Given the description of an element on the screen output the (x, y) to click on. 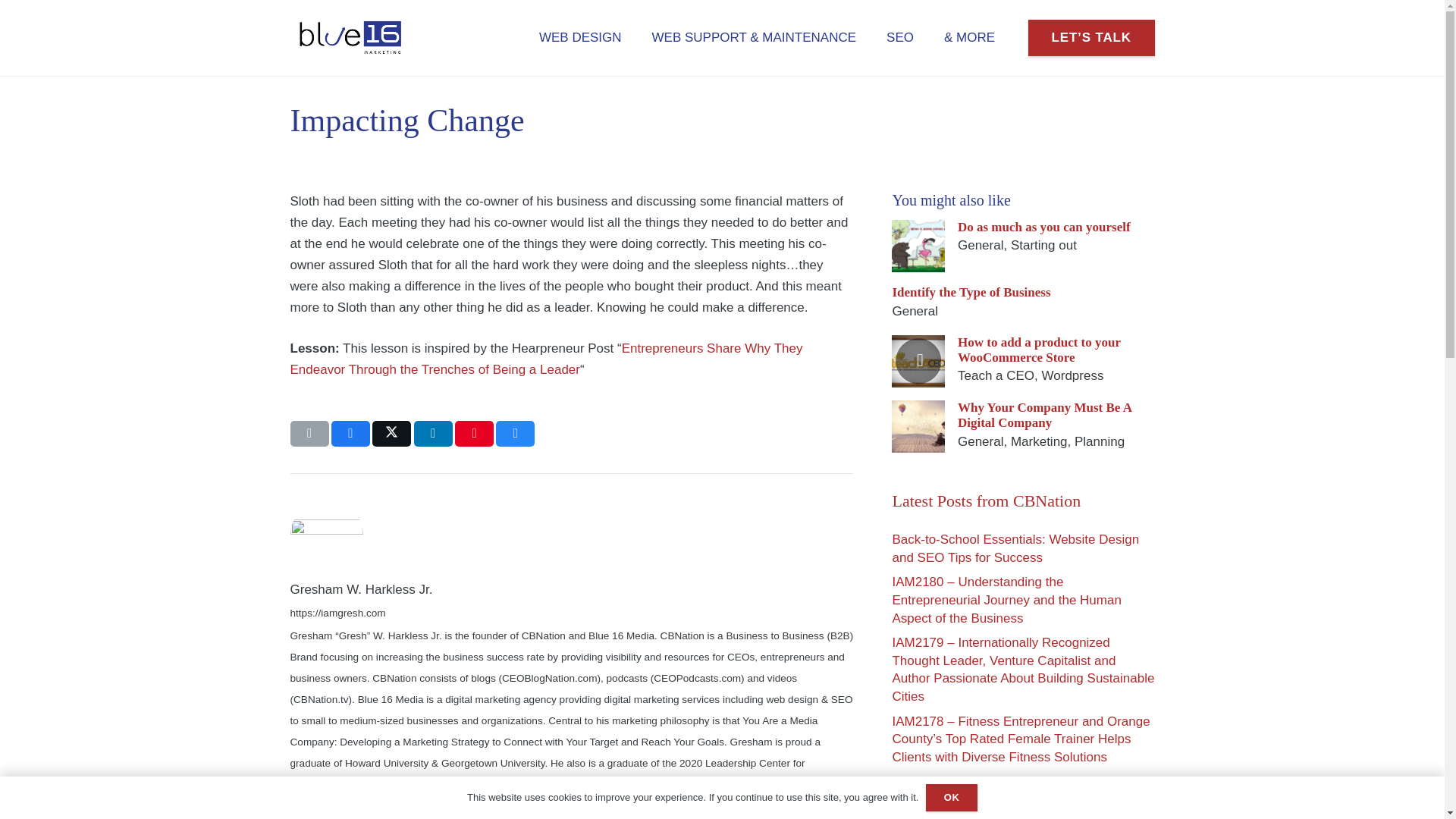
Gresham W. Harkless Jr. (571, 589)
Share this (350, 433)
How to add a product to your WooCommerce Store (1039, 349)
Starting out (1043, 245)
Wordpress (1072, 375)
Share this (432, 433)
Email this (309, 433)
Identify the Type of Business (970, 292)
Pin this (473, 433)
General (980, 245)
Share this (515, 433)
WEB DESIGN (580, 38)
Teach a CEO (995, 375)
General (914, 310)
